Given the description of an element on the screen output the (x, y) to click on. 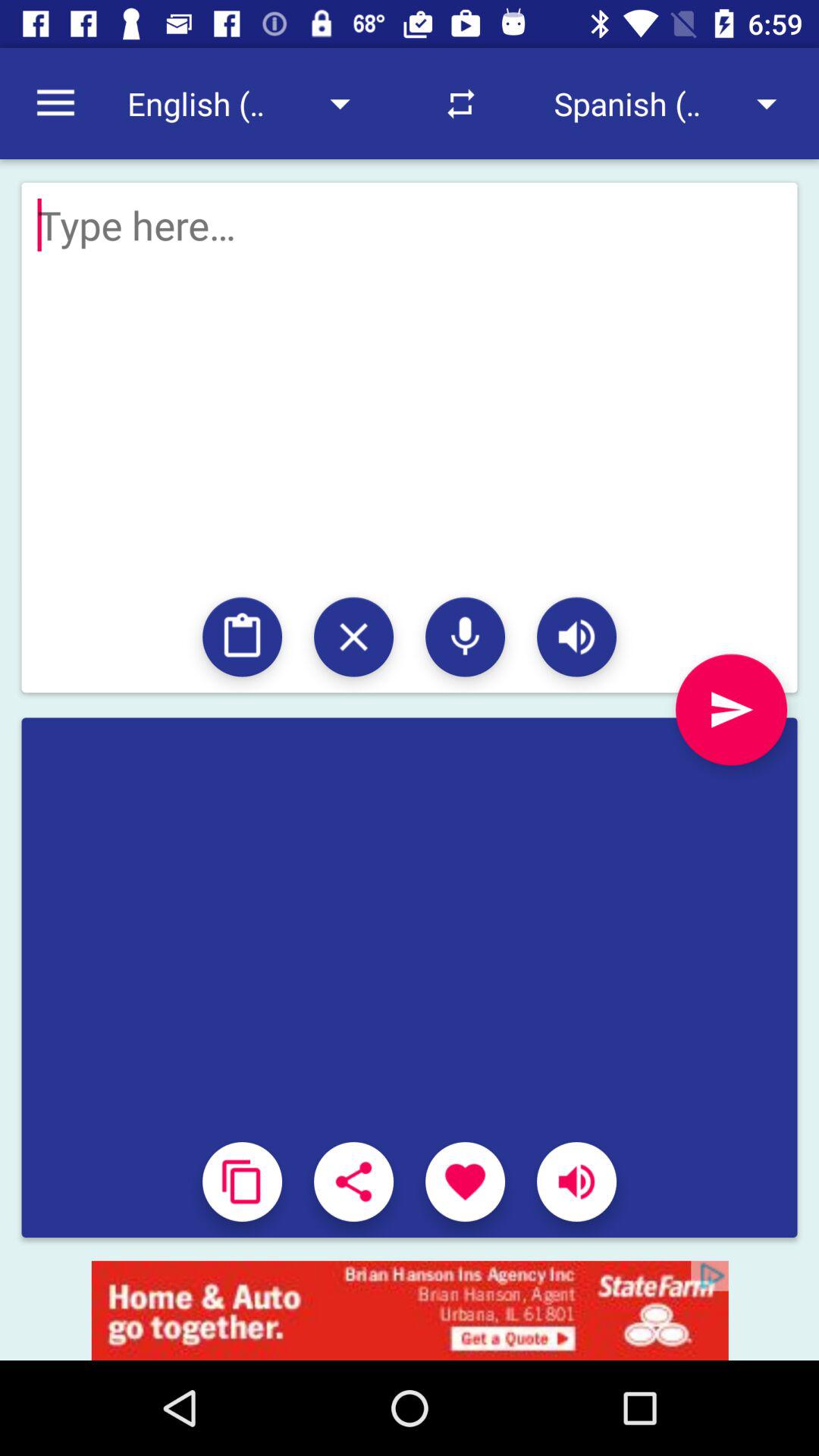
select mic (465, 636)
